Given the description of an element on the screen output the (x, y) to click on. 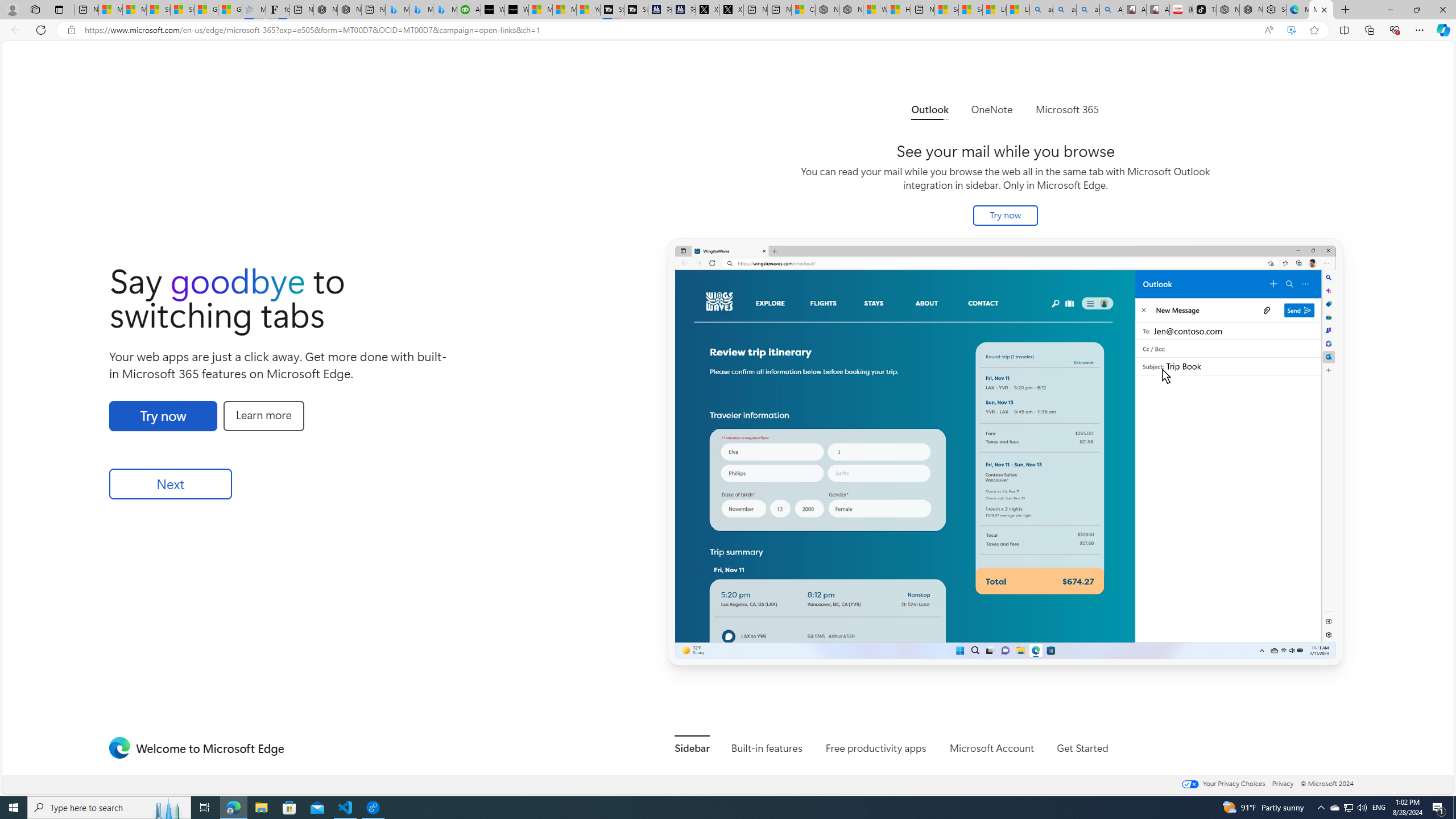
Microsoft Bing Travel - Stays in Bangkok, Bangkok, Thailand (421, 9)
